Given the description of an element on the screen output the (x, y) to click on. 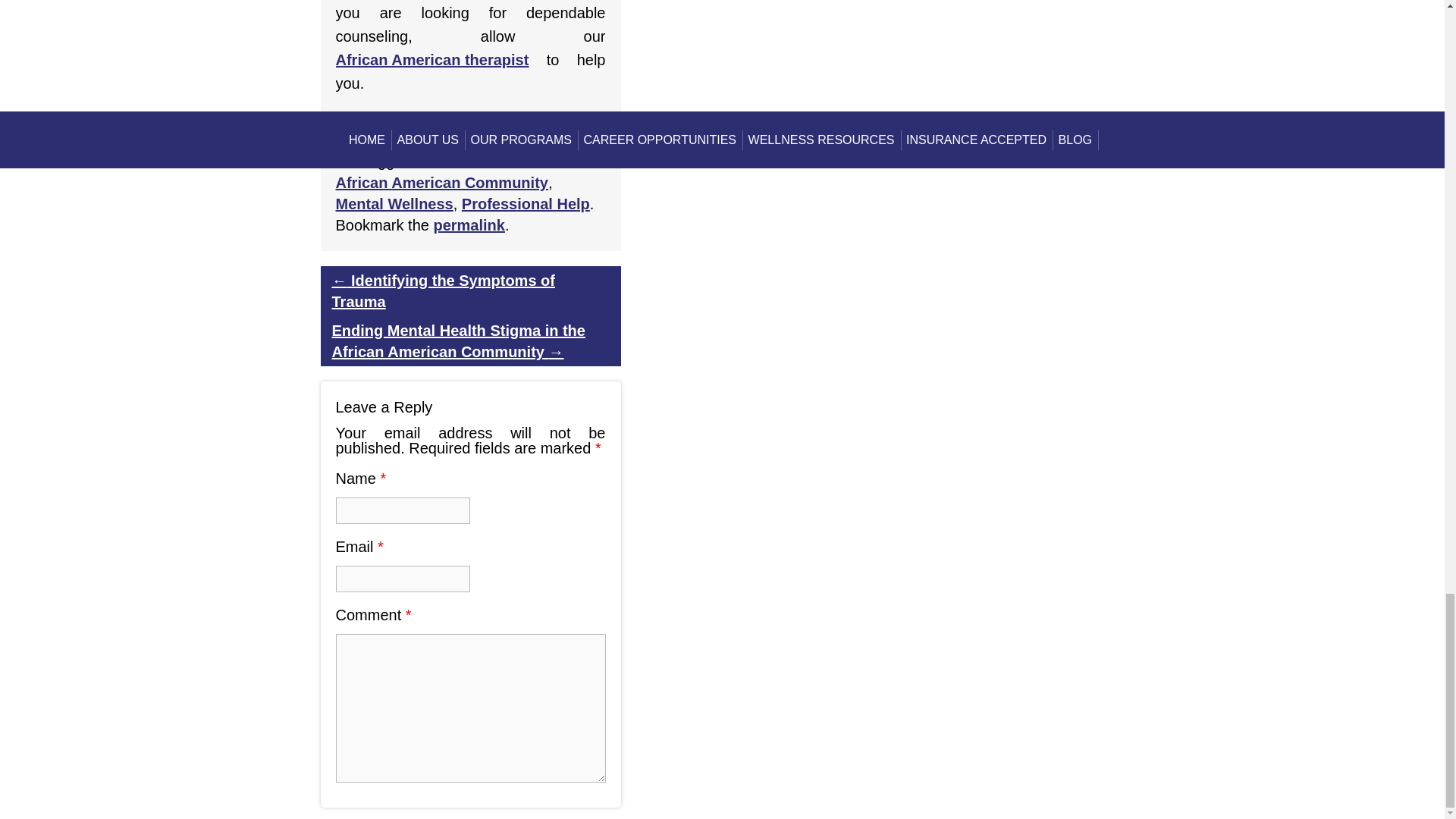
Mental Health (552, 139)
Mental Wellness (393, 203)
Permalink to Mental Health in the African American Community (467, 224)
Professional Help (525, 203)
permalink (467, 224)
African American therapist (431, 60)
African American Community (440, 182)
